Given the description of an element on the screen output the (x, y) to click on. 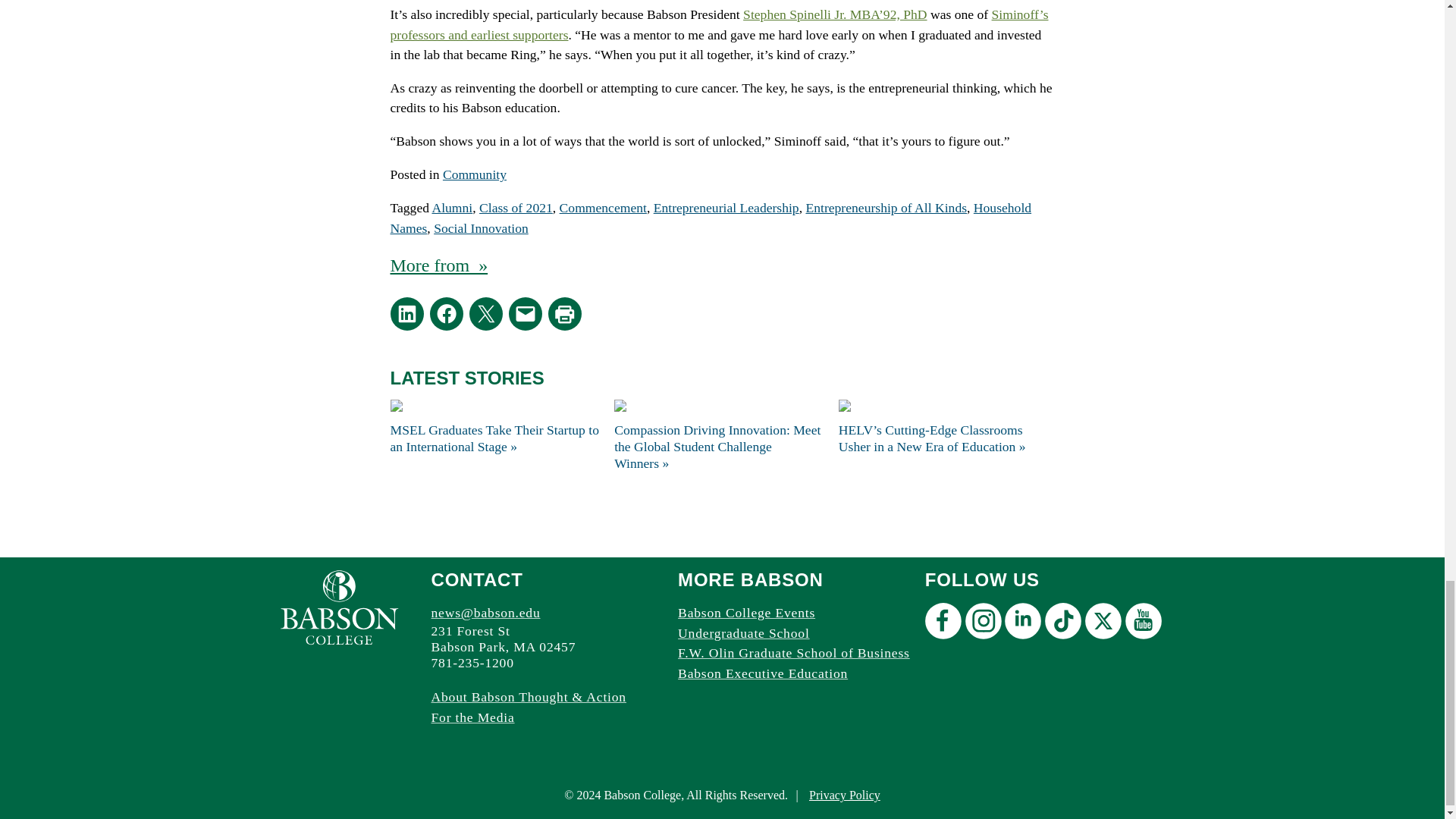
Class of 2021 (516, 207)
Entrepreneurial Leadership (726, 207)
Community (474, 174)
Commencement (602, 207)
Alumni (450, 207)
Babson CollegeWhite Babson logo with globe graphic (338, 607)
